Given the description of an element on the screen output the (x, y) to click on. 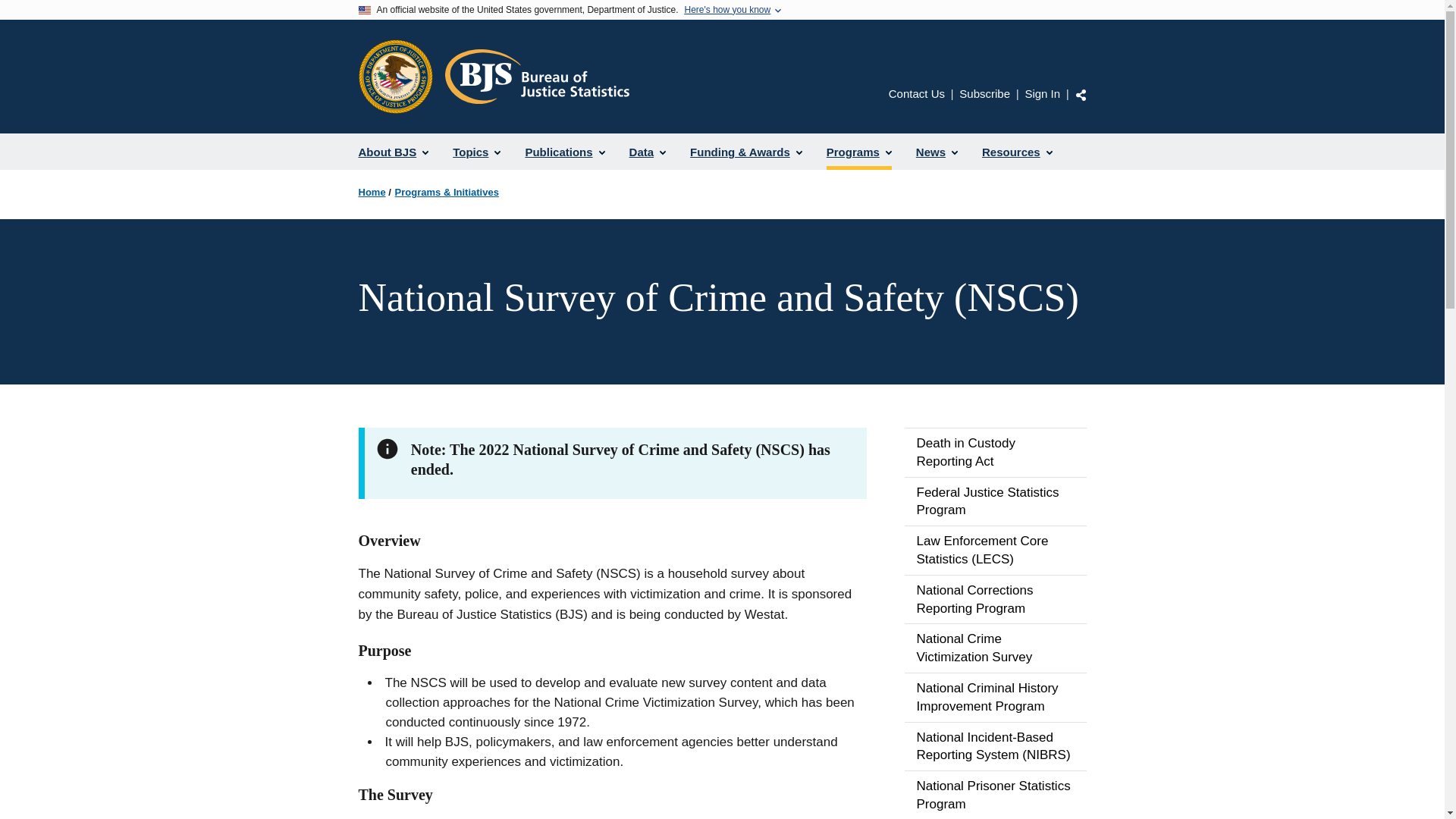
Here's how you know (727, 9)
Resources (1016, 151)
News (936, 151)
Programs (858, 151)
National Prisoner Statistics Program (995, 795)
Office of Justice Programs (395, 76)
National Criminal History Improvement Program (995, 697)
Publications (563, 151)
Share (1080, 94)
National Crime Victimization Survey (995, 648)
